Given the description of an element on the screen output the (x, y) to click on. 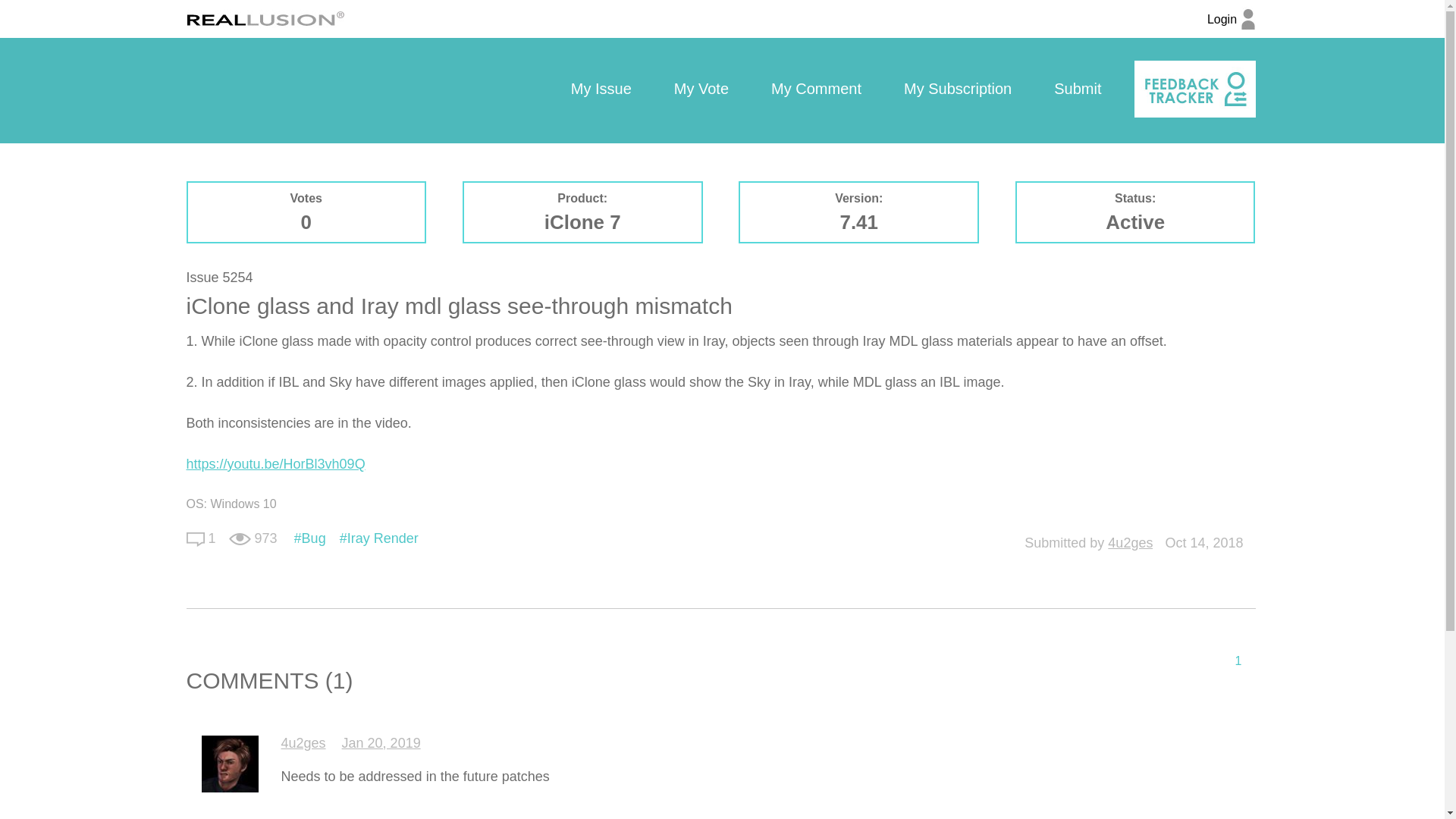
Views (239, 539)
My Vote (700, 89)
My Subscription (957, 89)
Feedback Tracker Home (1194, 88)
Comments (195, 539)
Submit (1076, 89)
Bug (310, 538)
My Comment (815, 89)
Iray Render (379, 538)
Login (1231, 27)
Reallusion (266, 18)
My Issue (601, 89)
